Given the description of an element on the screen output the (x, y) to click on. 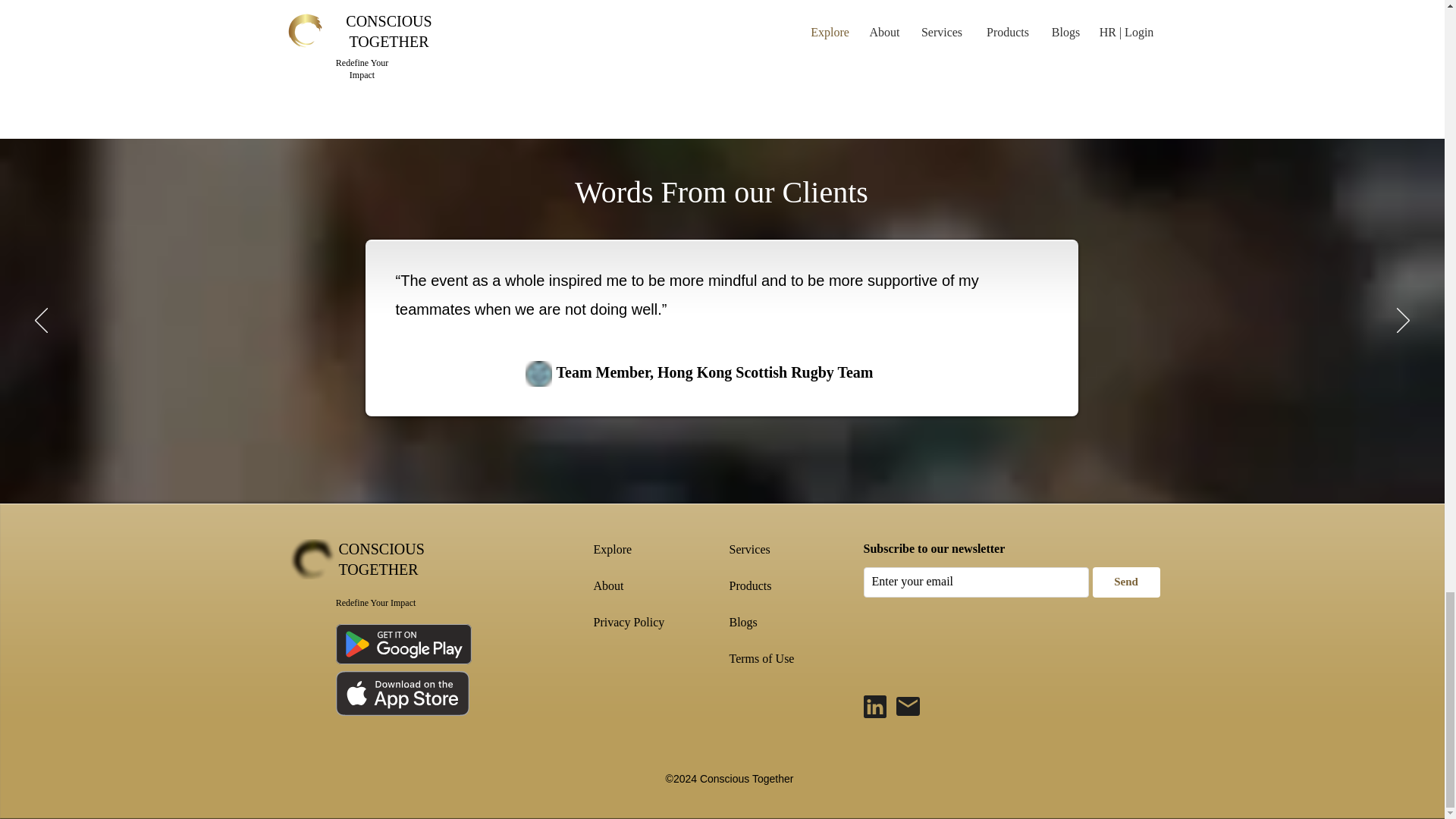
Redefine Your Impact (376, 602)
Services (749, 549)
Send (1125, 582)
Products (750, 585)
Privacy Policy (627, 621)
Explore (611, 549)
Blogs (743, 621)
About (607, 585)
CONSCIOUS TOGETHER (380, 559)
Terms of Use (761, 658)
Learn more (363, 44)
